Given the description of an element on the screen output the (x, y) to click on. 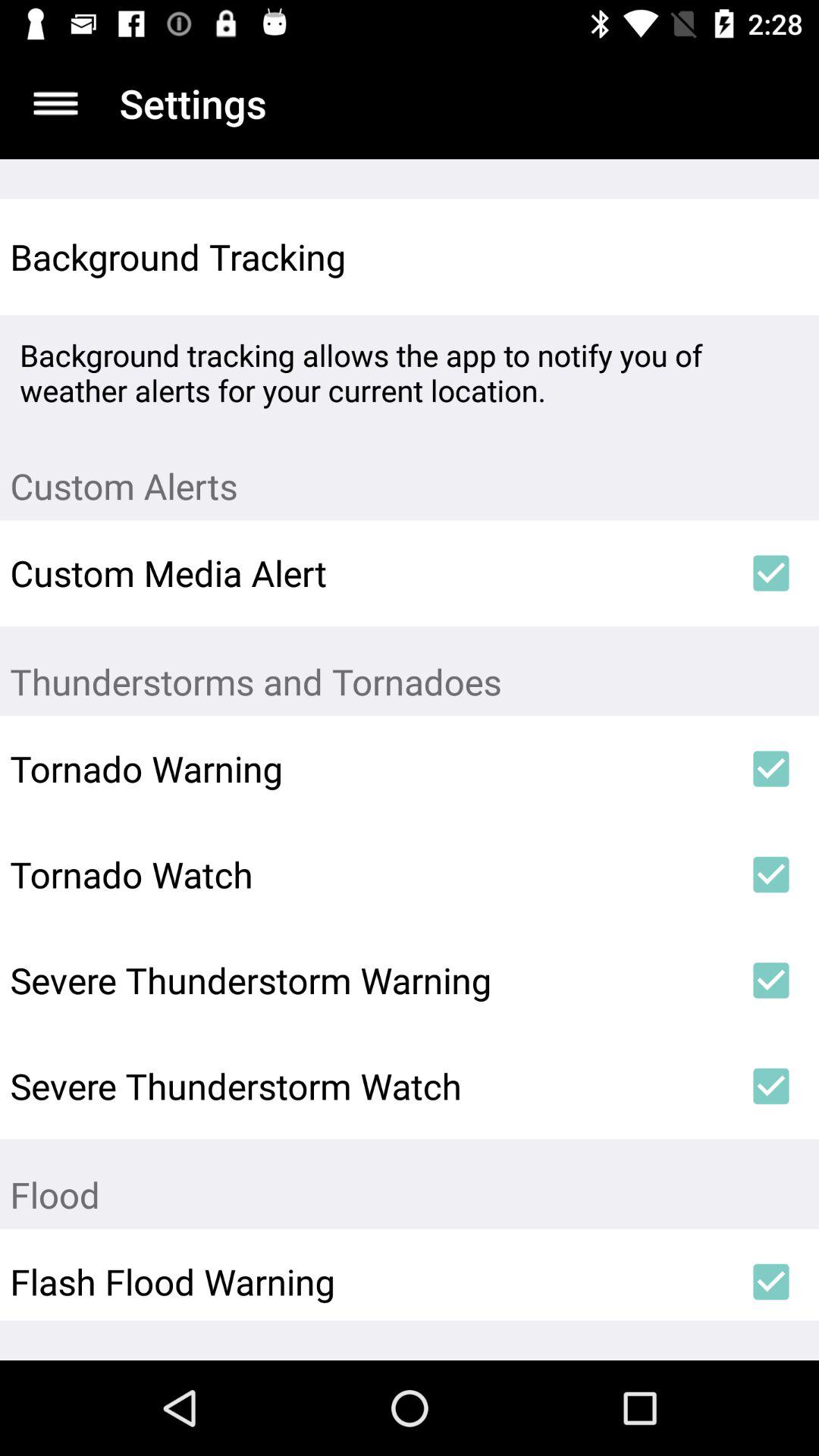
scroll until the custom media alert item (366, 572)
